Given the description of an element on the screen output the (x, y) to click on. 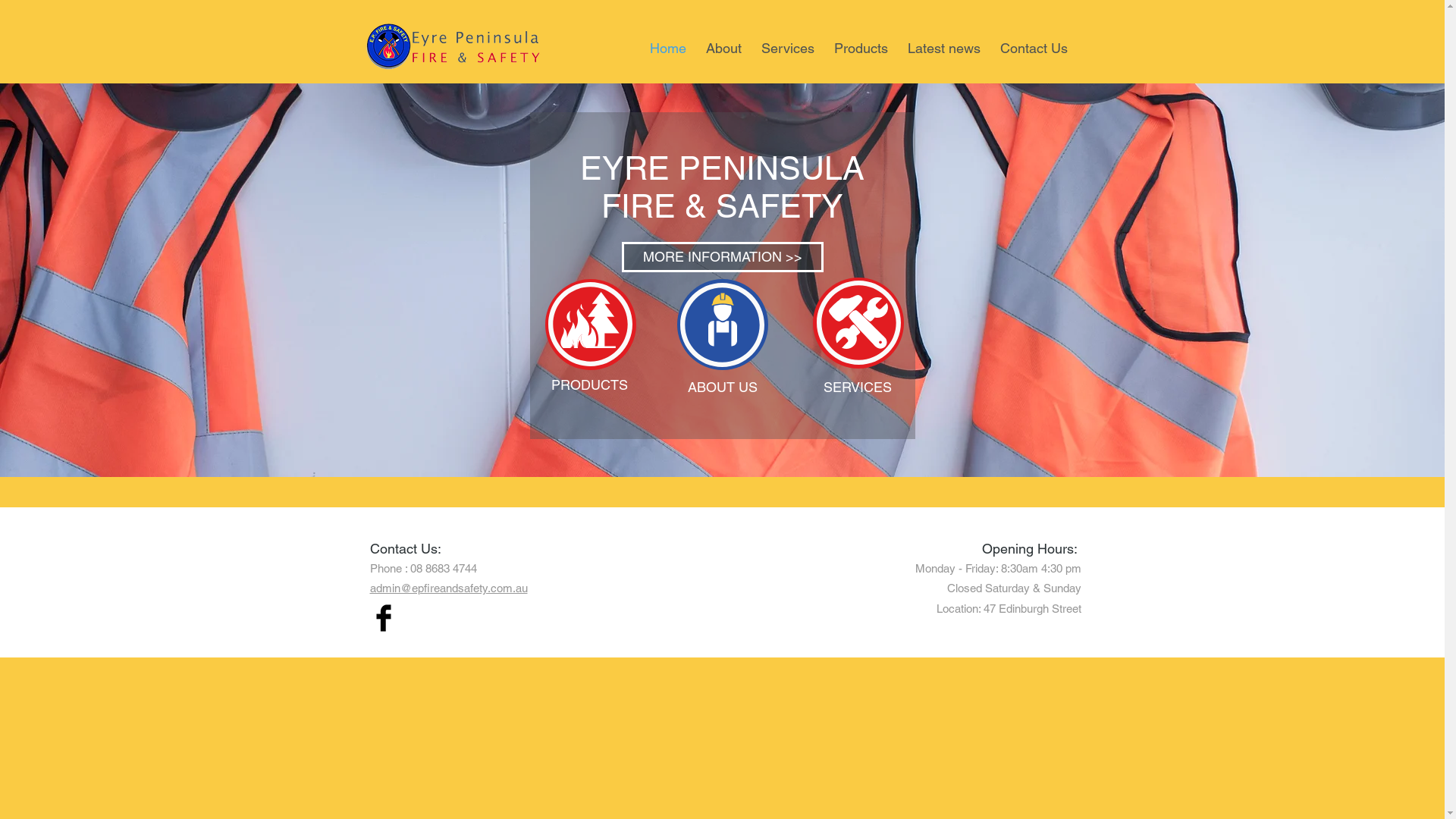
SERVICES Element type: text (857, 387)
About Element type: text (723, 44)
admin@epfireandsafety.com.au Element type: text (448, 587)
Contact Us Element type: text (1033, 44)
Services Element type: text (786, 44)
ABOUT US Element type: text (721, 387)
Home Element type: text (668, 44)
Products Element type: text (860, 44)
Latest news Element type: text (943, 44)
PRODUCTS Element type: text (589, 384)
MORE INFORMATION >> Element type: text (722, 256)
